Given the description of an element on the screen output the (x, y) to click on. 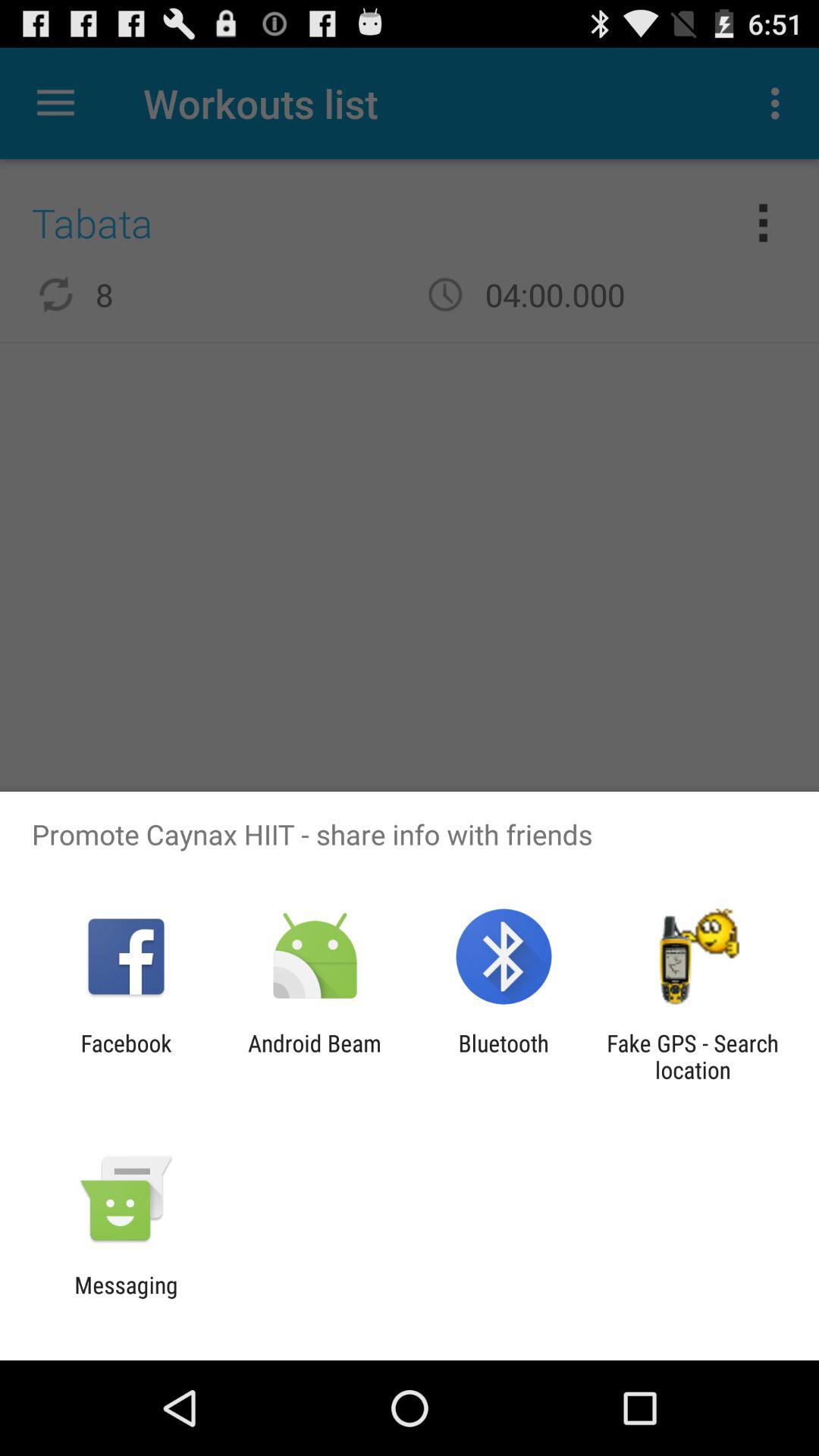
select item at the bottom right corner (692, 1056)
